Given the description of an element on the screen output the (x, y) to click on. 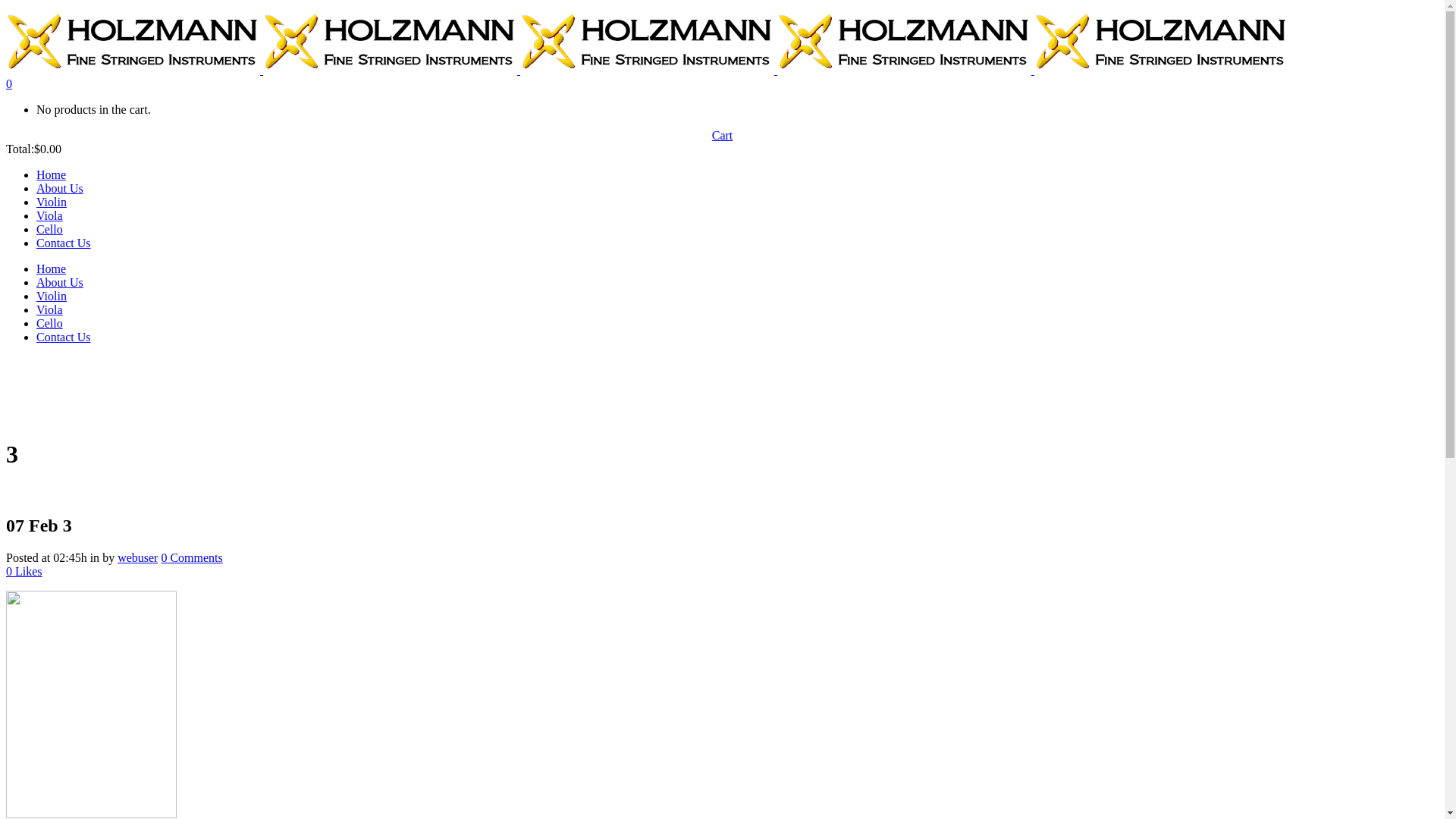
Home Element type: text (50, 174)
0 Likes Element type: text (24, 570)
0 Comments Element type: text (191, 557)
webuser Element type: text (137, 557)
Violin Element type: text (51, 201)
About Us Element type: text (59, 282)
Contact Us Element type: text (63, 336)
Contact Us Element type: text (63, 242)
Viola Element type: text (49, 309)
About Us Element type: text (59, 188)
Cello Element type: text (49, 228)
Home Element type: text (50, 268)
Cello Element type: text (49, 322)
0 Element type: text (9, 83)
Viola Element type: text (49, 215)
Violin Element type: text (51, 295)
Cart Element type: text (722, 135)
